Given the description of an element on the screen output the (x, y) to click on. 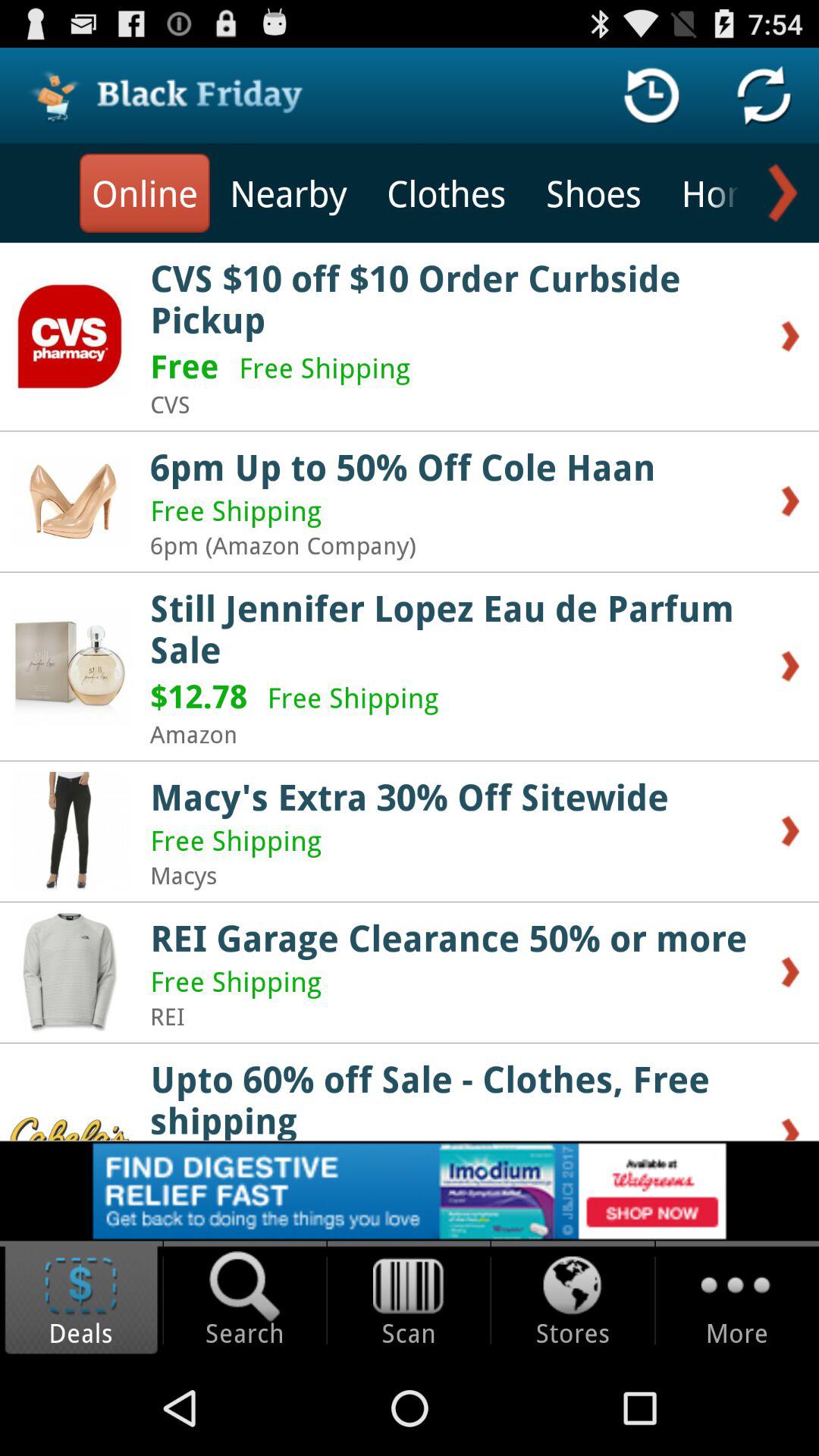
advertisement area (409, 1191)
